Given the description of an element on the screen output the (x, y) to click on. 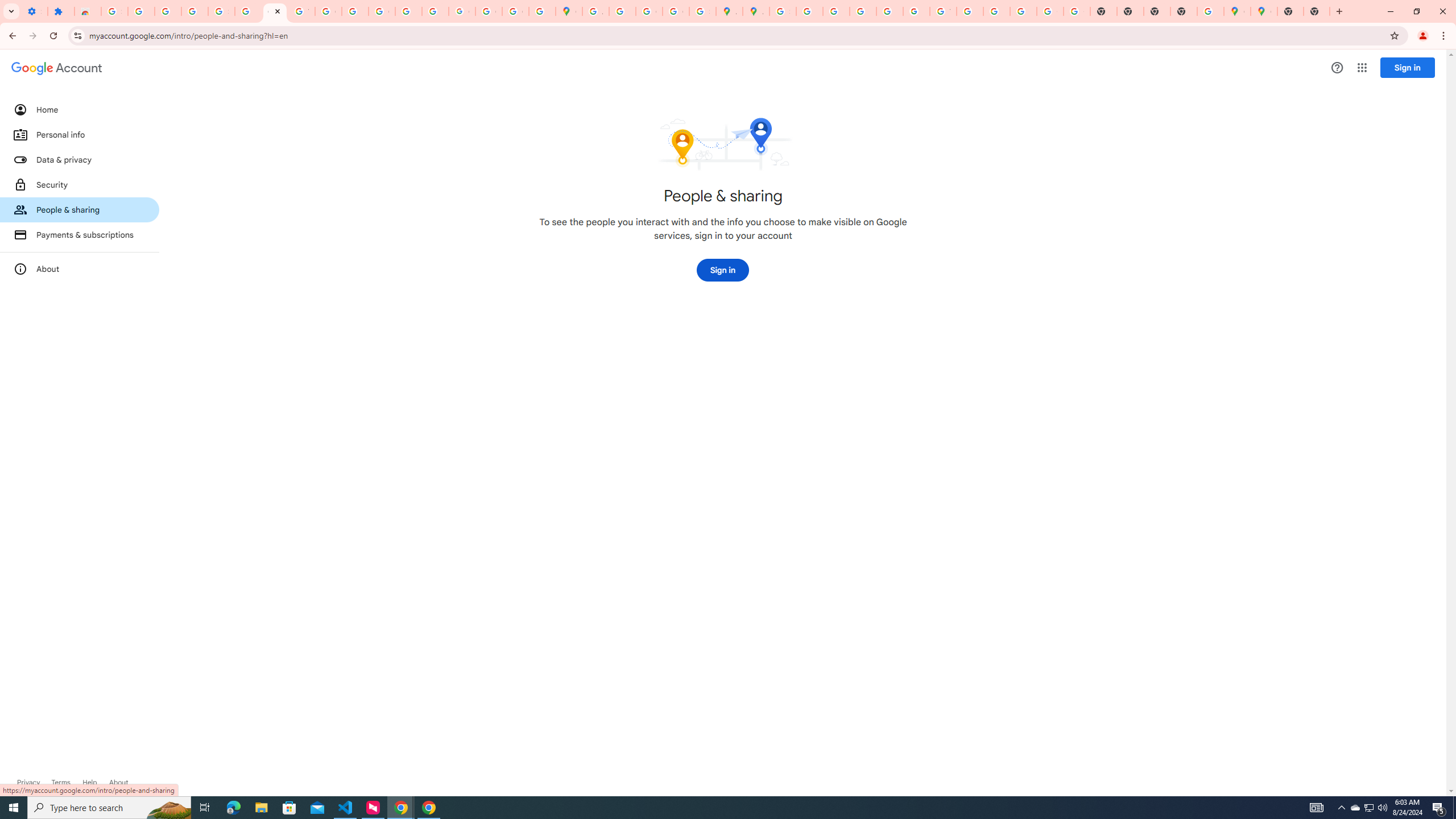
Google Account settings (56, 68)
Data & privacy (79, 159)
Google Account (275, 11)
Create your Google Account (649, 11)
New Tab (1290, 11)
